Given the description of an element on the screen output the (x, y) to click on. 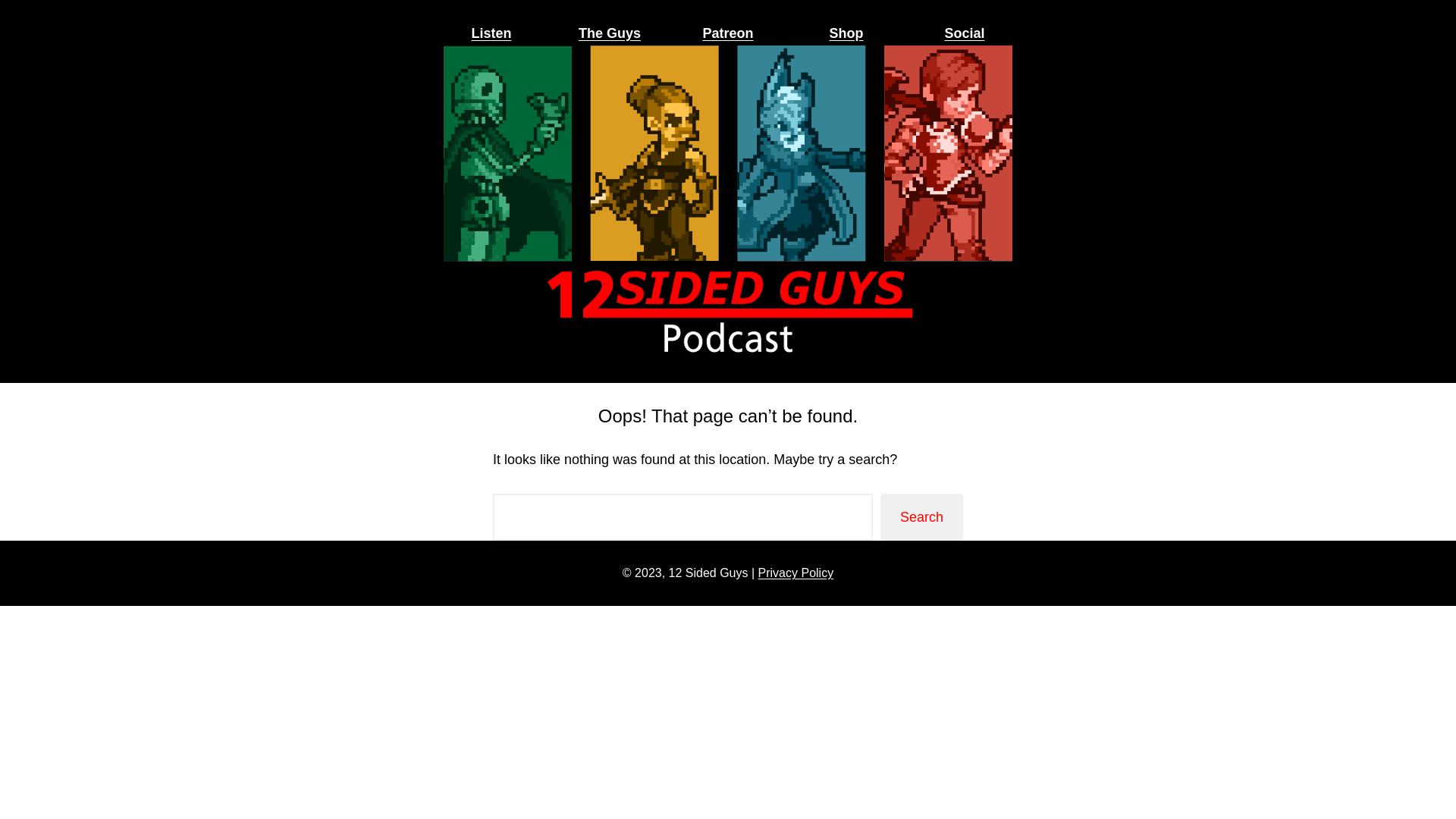
Patreon Element type: text (727, 32)
Search Element type: text (921, 517)
Listen Element type: text (490, 32)
The Guys Element type: text (609, 32)
Shop Element type: text (846, 32)
Social Element type: text (964, 32)
Privacy Policy Element type: text (796, 572)
